Given the description of an element on the screen output the (x, y) to click on. 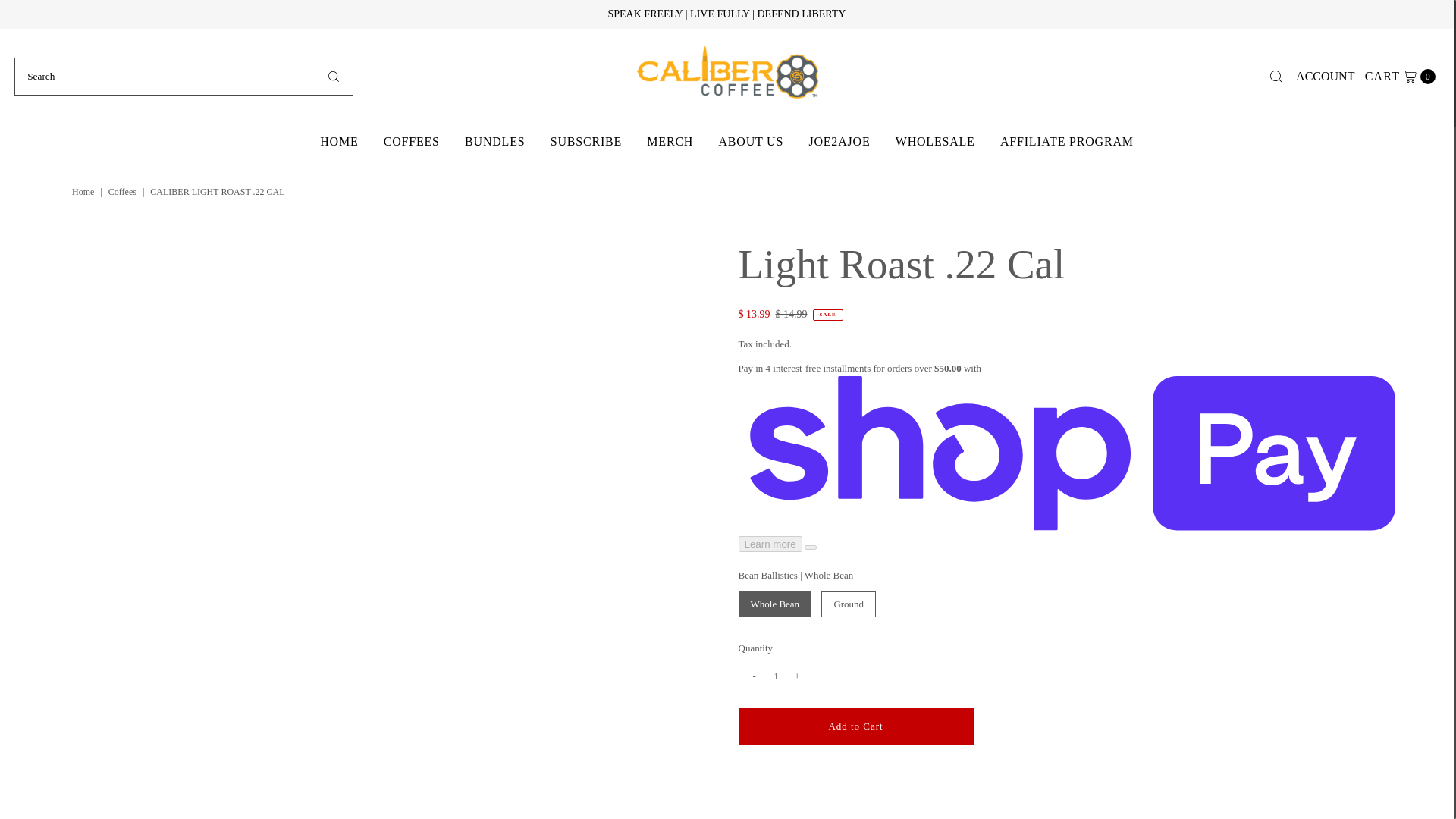
Home (84, 191)
Add to Cart (856, 726)
BUNDLES (493, 141)
Home (84, 191)
MERCH (669, 141)
HOME (338, 141)
JOE2AJOE (1400, 76)
WHOLESALE (838, 141)
SUBSCRIBE (935, 141)
